Given the description of an element on the screen output the (x, y) to click on. 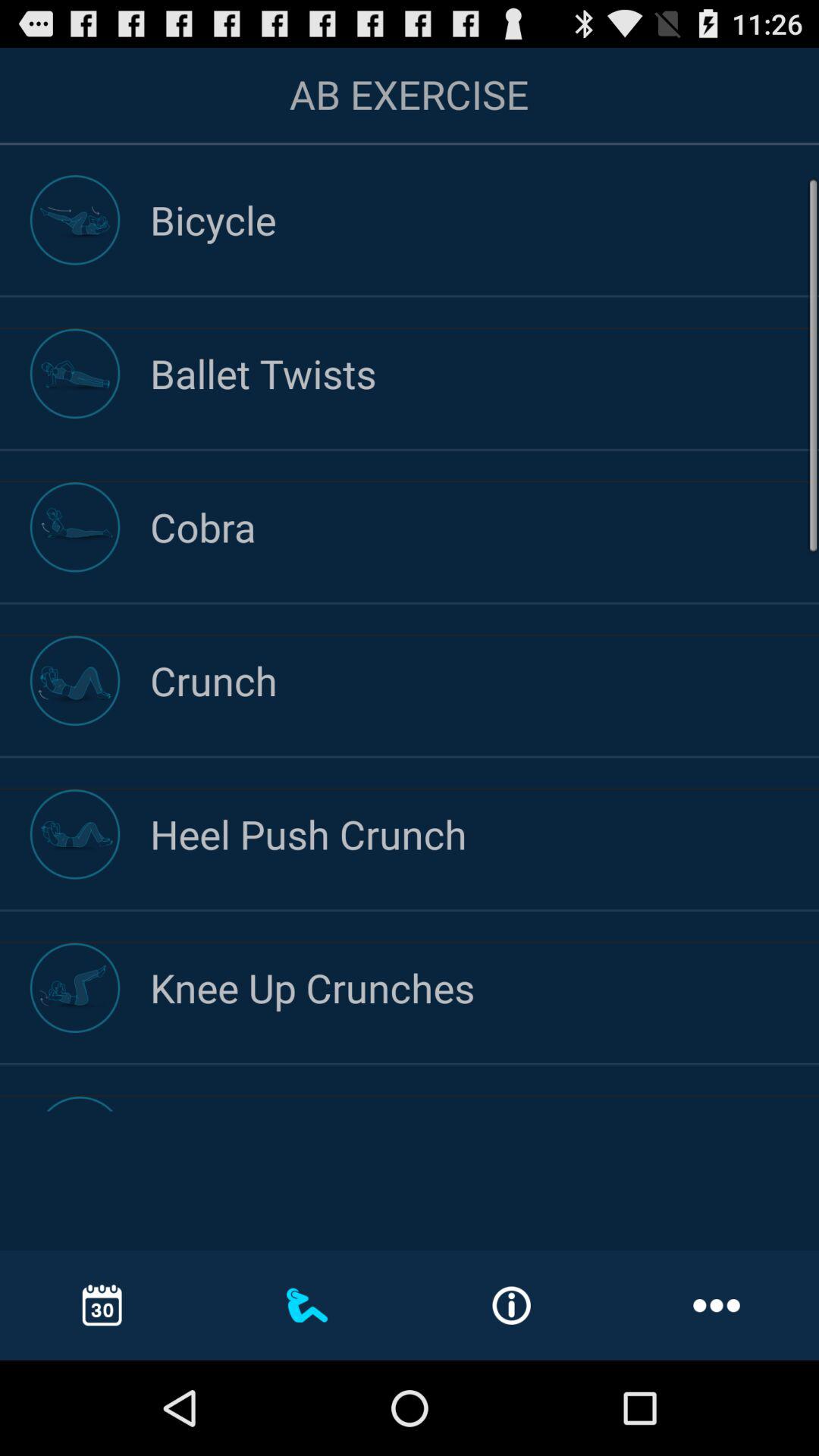
turn off bicycle icon (484, 219)
